Given the description of an element on the screen output the (x, y) to click on. 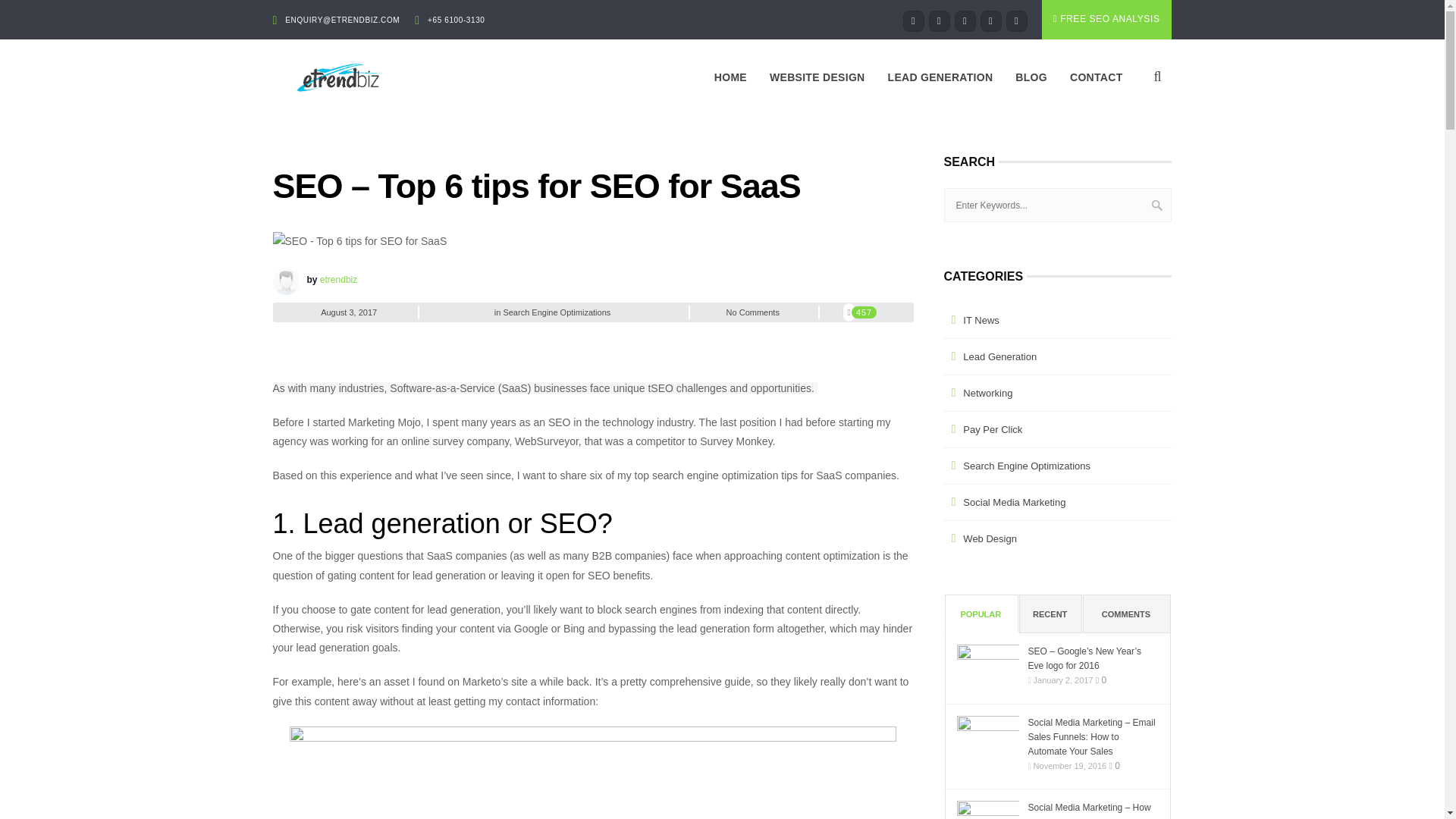
Search Engine Optimizations (556, 311)
LEAD GENERATION (940, 77)
etrendbiz (338, 279)
CONTACT (1096, 77)
FREE SEO ANALYSIS (1107, 19)
WEBSITE DESIGN (817, 77)
Posts by etrendbiz (338, 279)
